Given the description of an element on the screen output the (x, y) to click on. 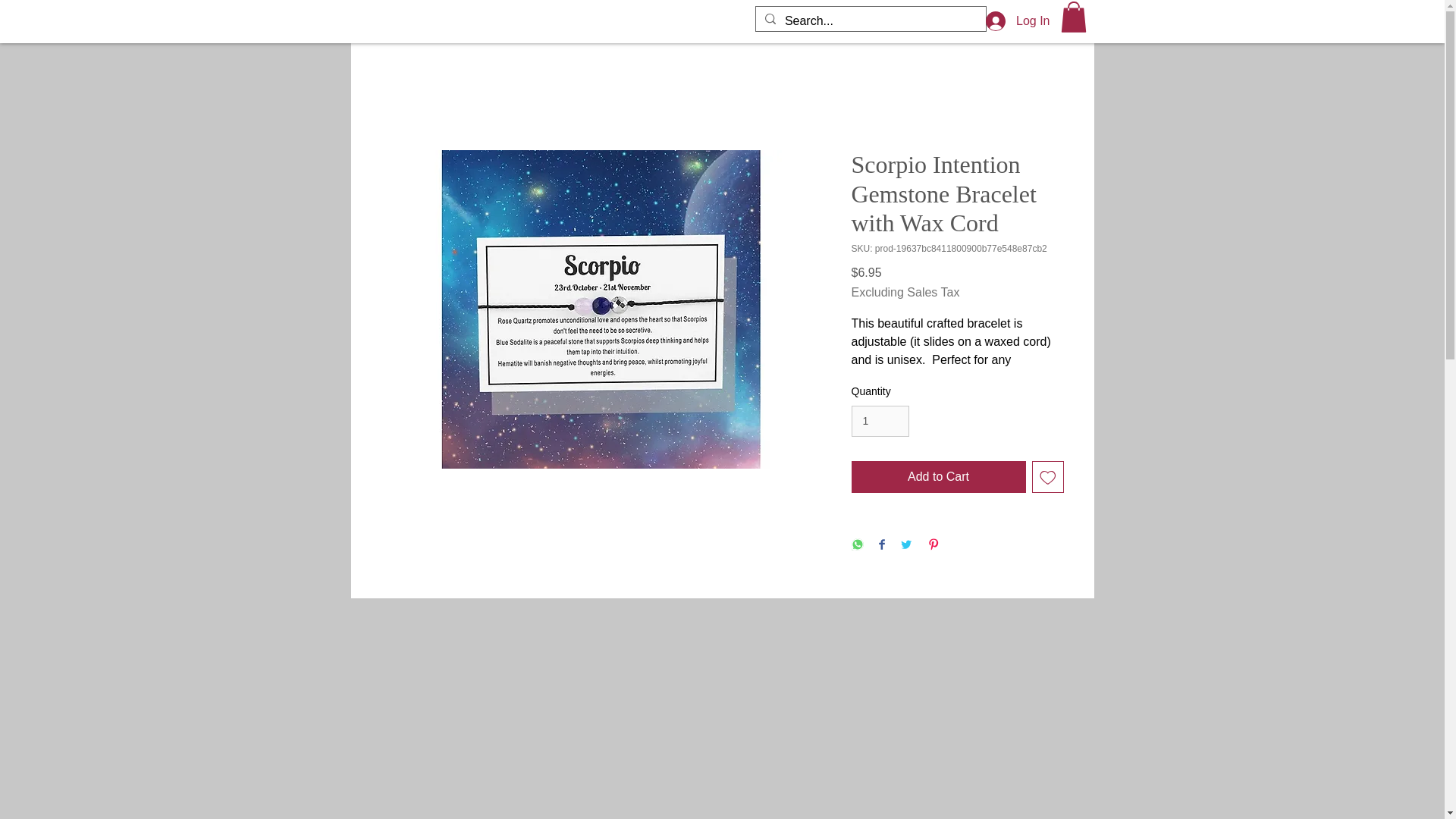
Add to Cart (937, 477)
1 (879, 420)
Log In (1017, 21)
